Given the description of an element on the screen output the (x, y) to click on. 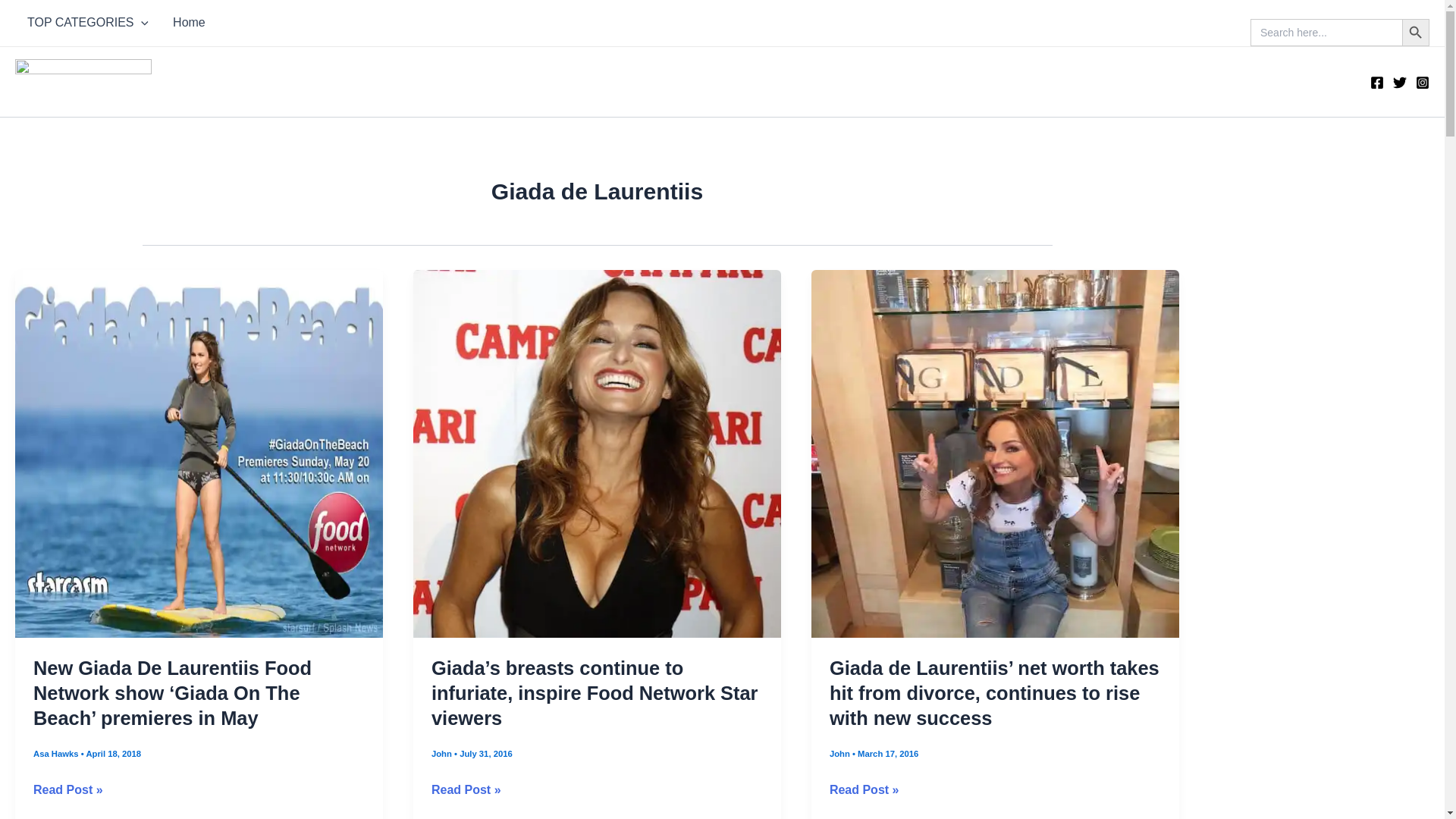
View all posts by Asa Hawks (57, 753)
View all posts by John (840, 753)
Home (188, 22)
Asa Hawks (57, 753)
View all posts by John (442, 753)
TOP CATEGORIES (87, 22)
Search Button (1415, 31)
